Given the description of an element on the screen output the (x, y) to click on. 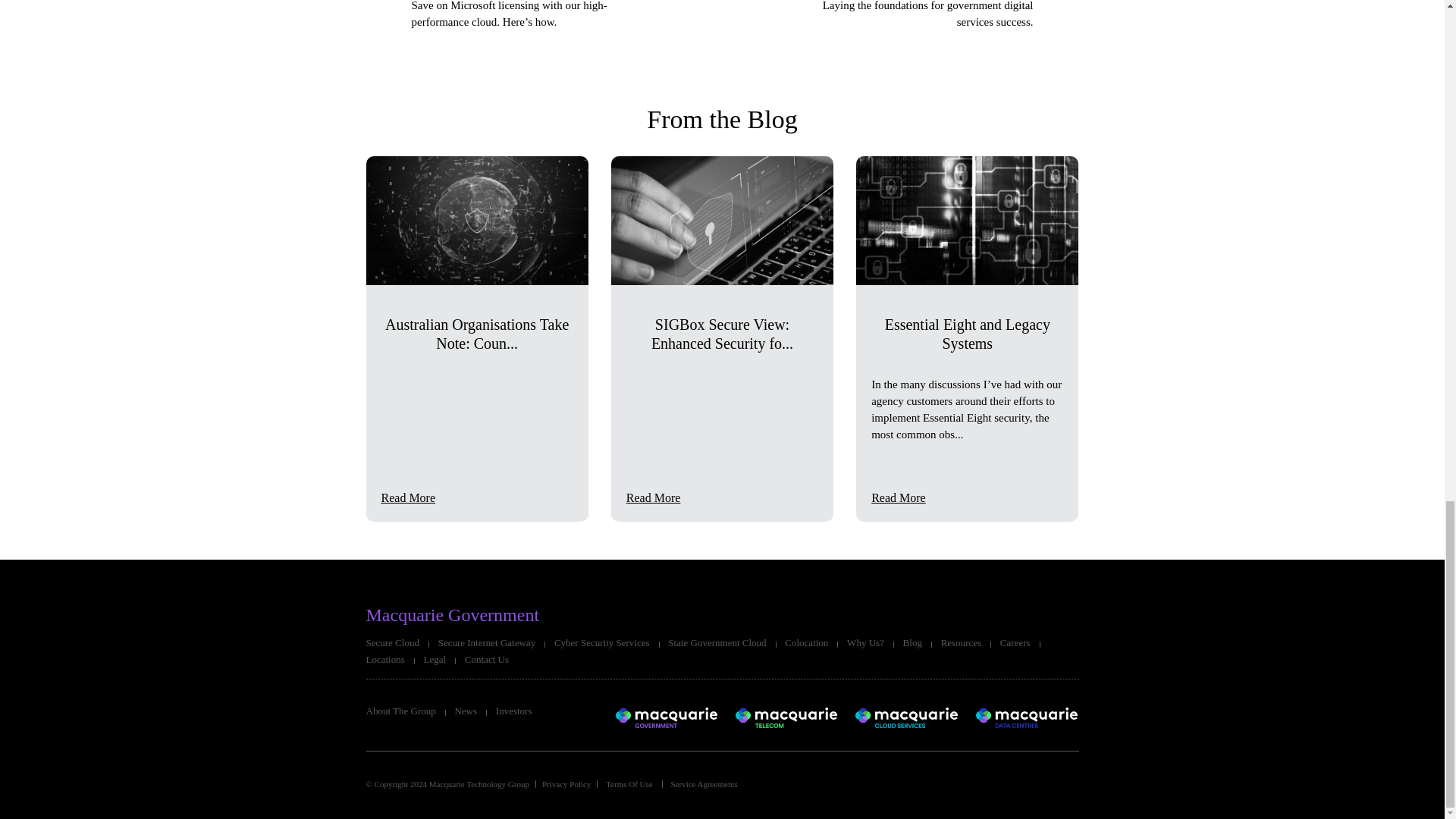
essential-8-legacy-systems-image (967, 220)
SIGBox 1 (721, 220)
Countering LotL Cyber Threats Blog 2 (476, 220)
